Given the description of an element on the screen output the (x, y) to click on. 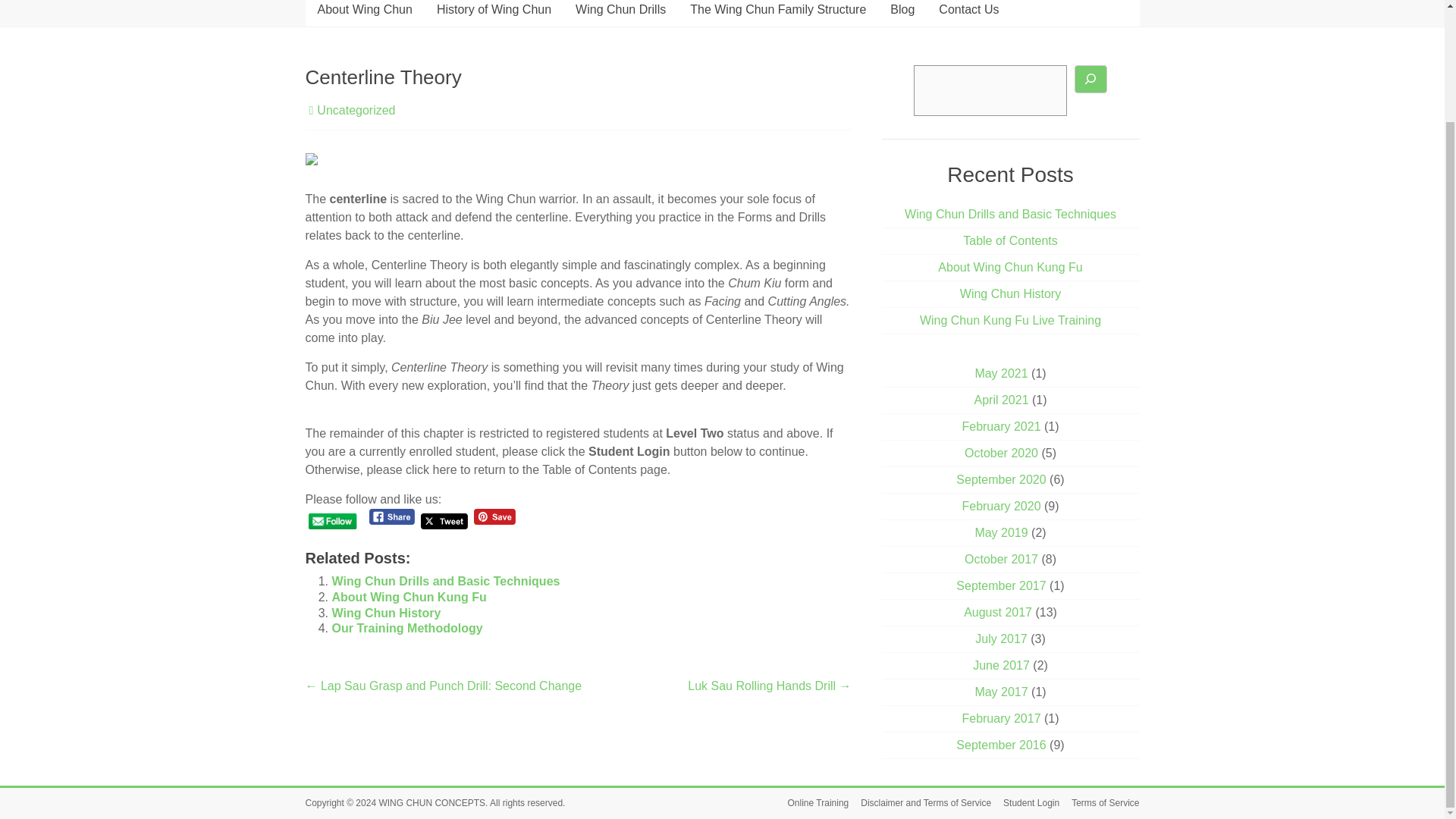
May 2019 (1000, 532)
About Wing Chun Kung Fu (408, 596)
Wing Chun History (386, 612)
September 2016 (1000, 744)
About Wing Chun Kung Fu (1009, 267)
The Wing Chun Family Structure (777, 13)
May 2017 (1000, 691)
Our Training Methodology (407, 627)
September 2017 (1000, 585)
February 2017 (1000, 717)
